Given the description of an element on the screen output the (x, y) to click on. 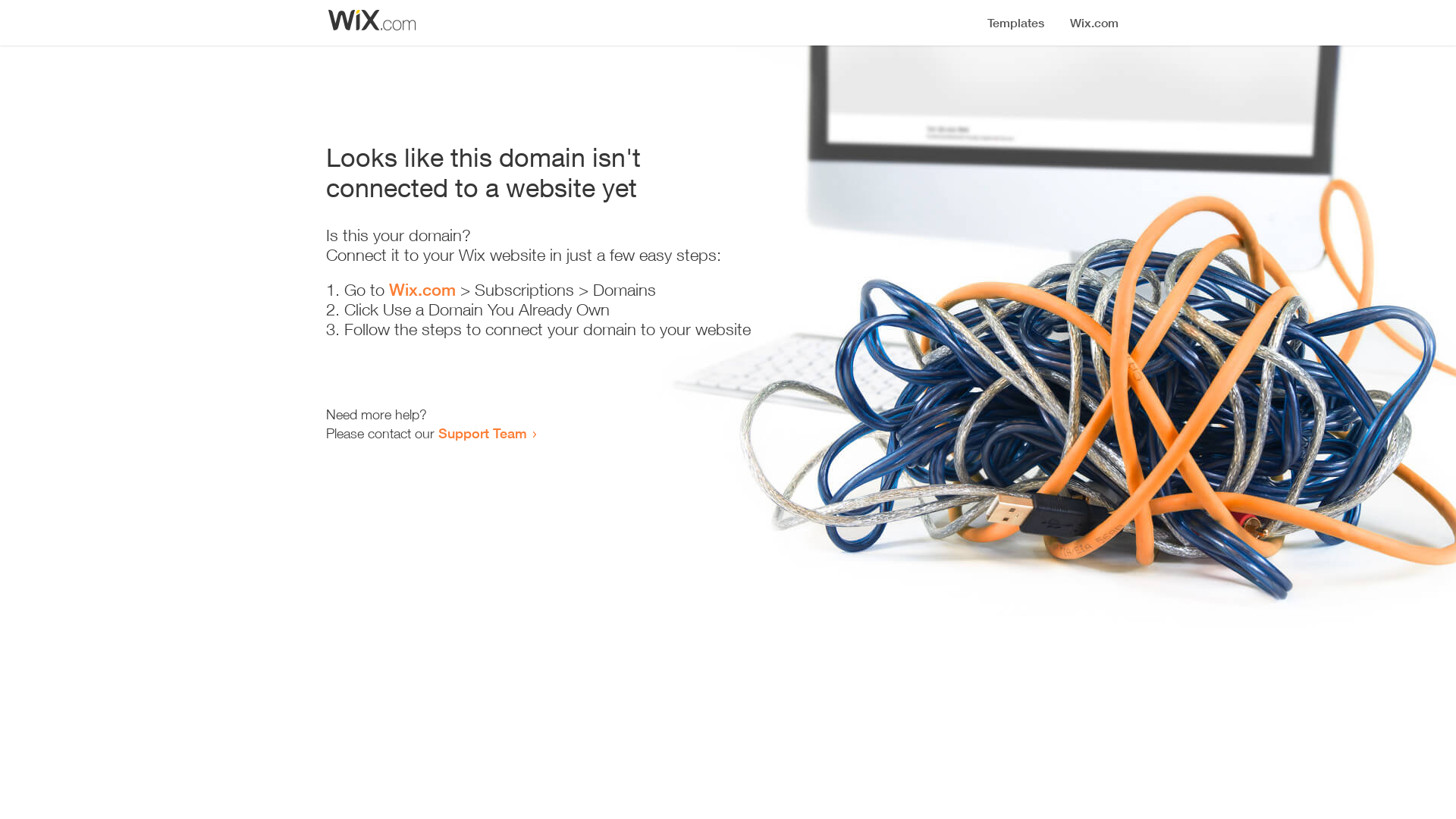
Wix.com Element type: text (422, 289)
Support Team Element type: text (482, 432)
